Given the description of an element on the screen output the (x, y) to click on. 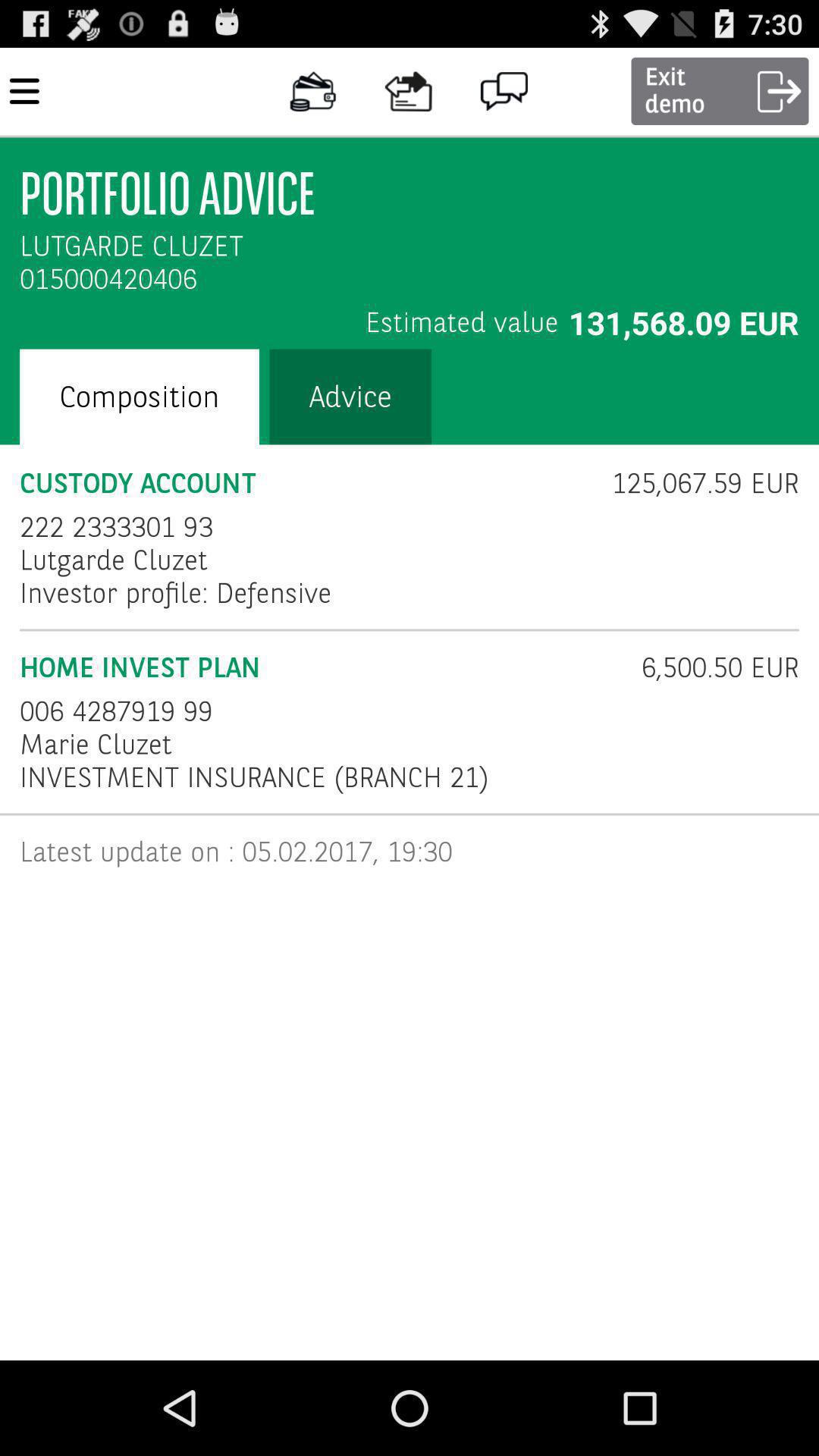
scroll to the marie cluzet (95, 744)
